Given the description of an element on the screen output the (x, y) to click on. 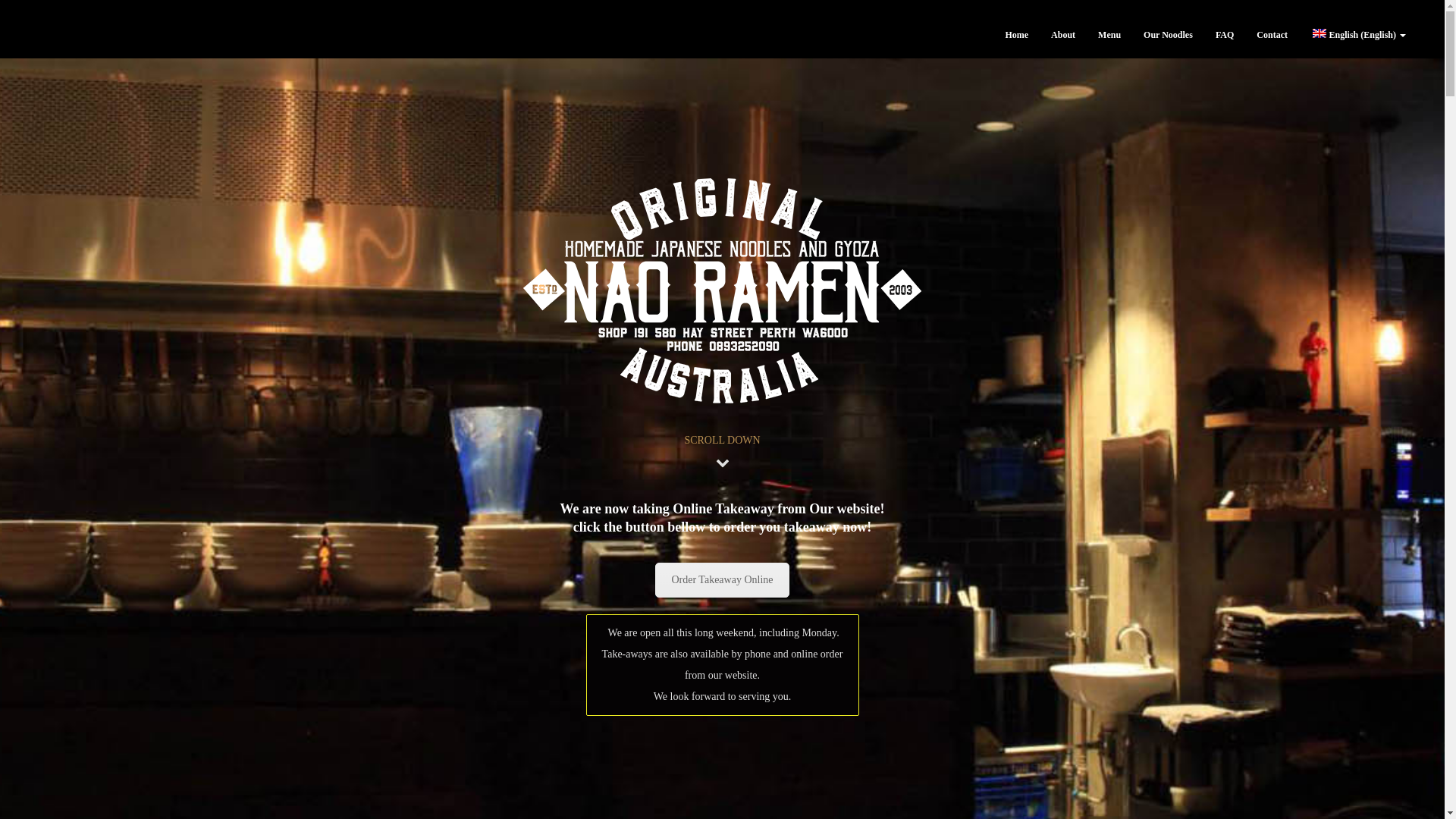
About Element type: text (1062, 34)
Our Noodles Element type: text (1168, 34)
Contact Element type: text (1272, 34)
Home Element type: text (1016, 34)
 English (English) Element type: text (1358, 34)
Order Takeaway Online Element type: text (721, 579)
Menu Element type: text (1109, 34)
SCROLL DOWN Element type: text (721, 439)
FAQ Element type: text (1224, 34)
